Given the description of an element on the screen output the (x, y) to click on. 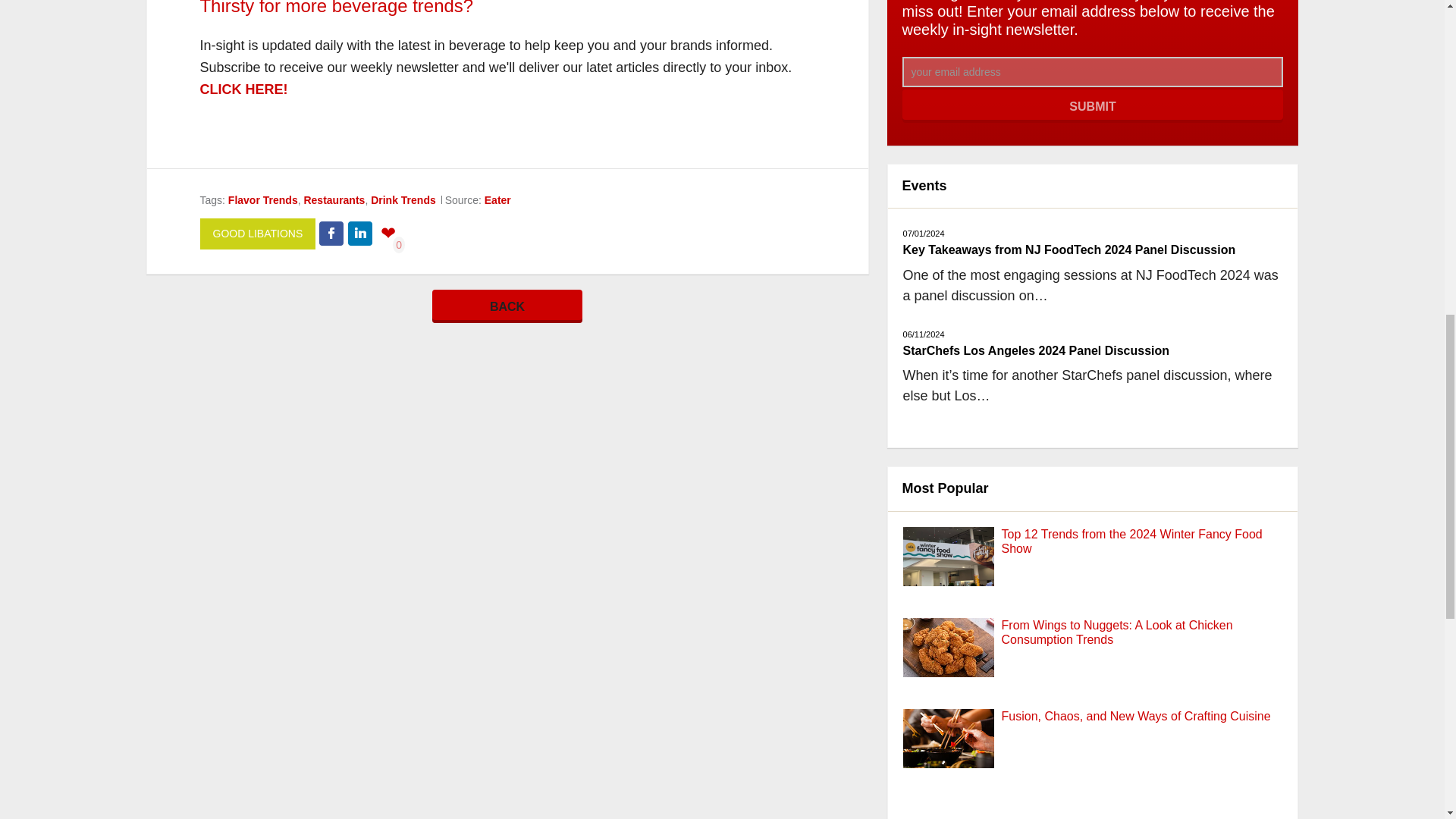
Fusion, Chaos, and New Ways of Crafting Cuisine (948, 754)
From Wings to Nuggets: A Look at Chicken Consumption Trends (1117, 632)
Key Takeaways from NJ FoodTech 2024 Panel Discussion (1069, 249)
Fusion, Chaos, and New Ways of Crafting Cuisine (1136, 716)
Fusion, Chaos, and New Ways of Crafting Cuisine (1136, 716)
Top 12 Trends from the 2024 Winter Fancy Food Show (1131, 541)
Flavor Trends (263, 200)
StarChefs Los Angeles 2024 Panel Discussion (1036, 350)
Top 12 Trends from the 2024 Winter Fancy Food Show (948, 572)
From Wings to Nuggets: A Look at Chicken Consumption Trends (948, 663)
Drink Trends (403, 200)
Eater (497, 200)
Top 12 Trends from the 2024 Winter Fancy Food Show (1131, 541)
submit (1093, 105)
your email address (1093, 71)
